Given the description of an element on the screen output the (x, y) to click on. 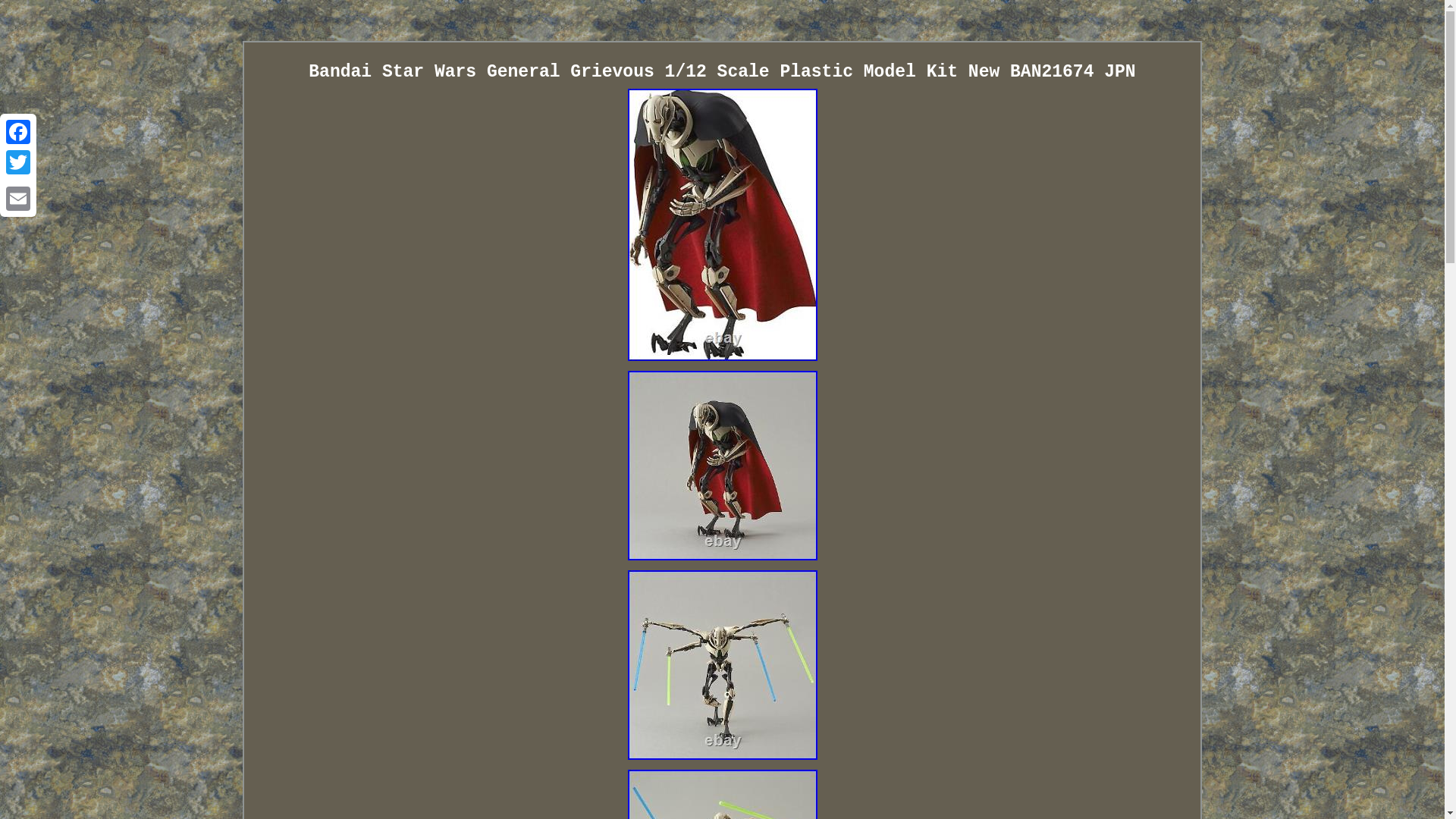
Facebook (17, 132)
Twitter (17, 162)
Email (17, 198)
